Given the description of an element on the screen output the (x, y) to click on. 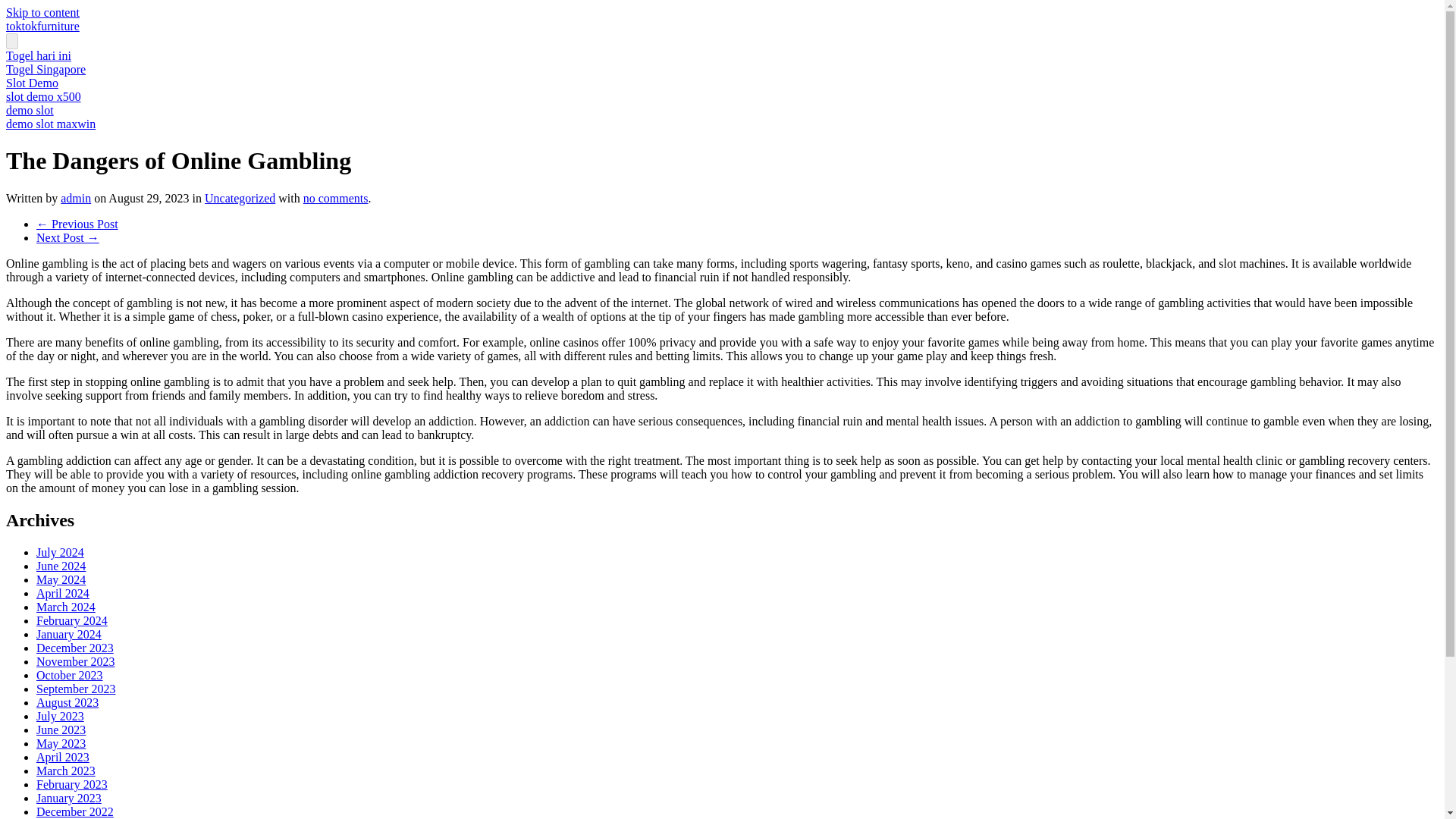
April 2024 (62, 593)
Togel Singapore (45, 69)
July 2024 (60, 552)
April 2023 (62, 757)
demo slot maxwin (50, 123)
July 2023 (60, 716)
December 2022 (74, 811)
admin (75, 197)
no comments (335, 197)
June 2024 (60, 565)
January 2023 (68, 797)
May 2023 (60, 743)
May 2024 (60, 579)
January 2024 (68, 634)
slot demo x500 (43, 96)
